Given the description of an element on the screen output the (x, y) to click on. 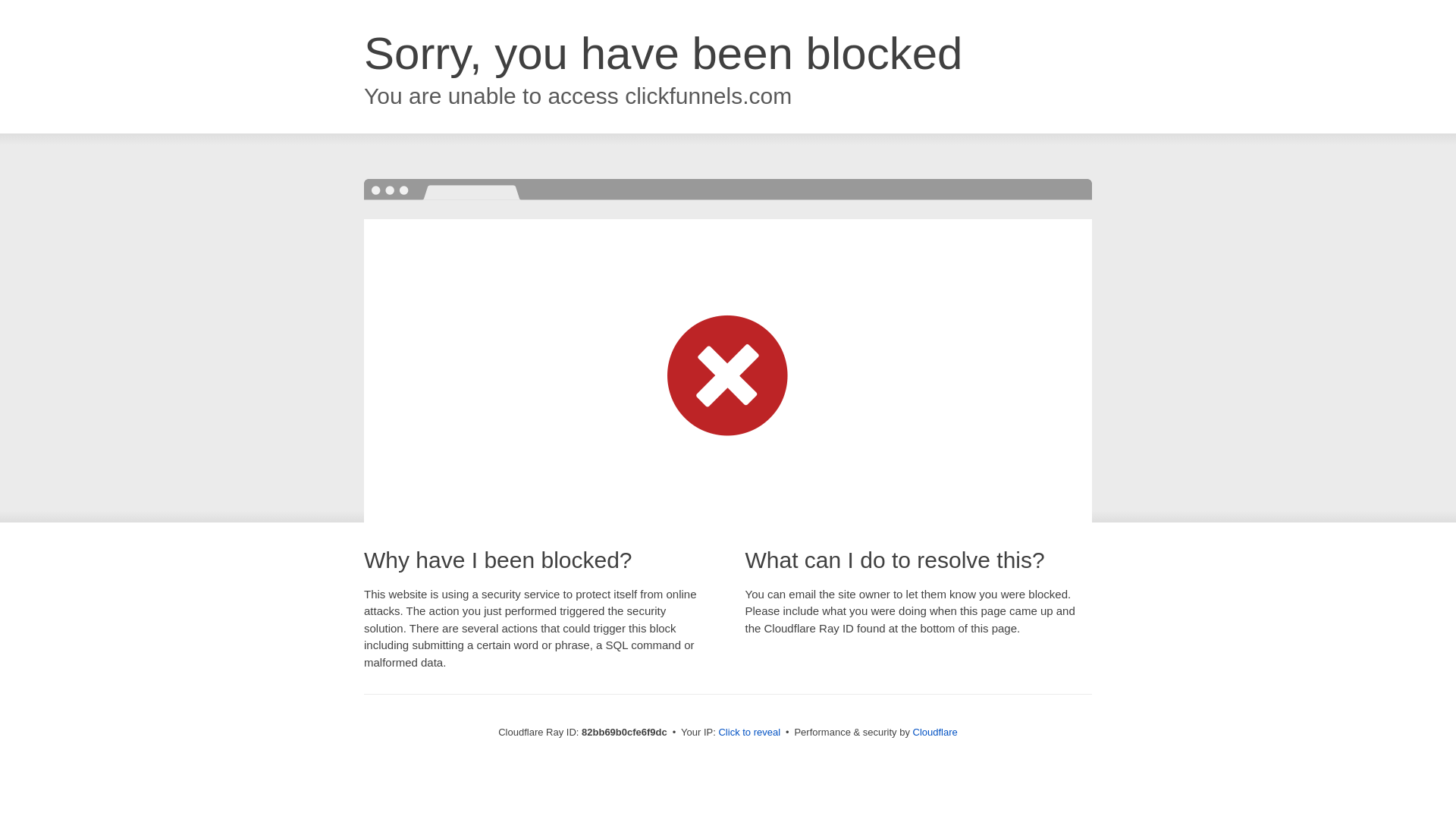
Cloudflare Element type: text (935, 731)
Click to reveal Element type: text (749, 732)
